Given the description of an element on the screen output the (x, y) to click on. 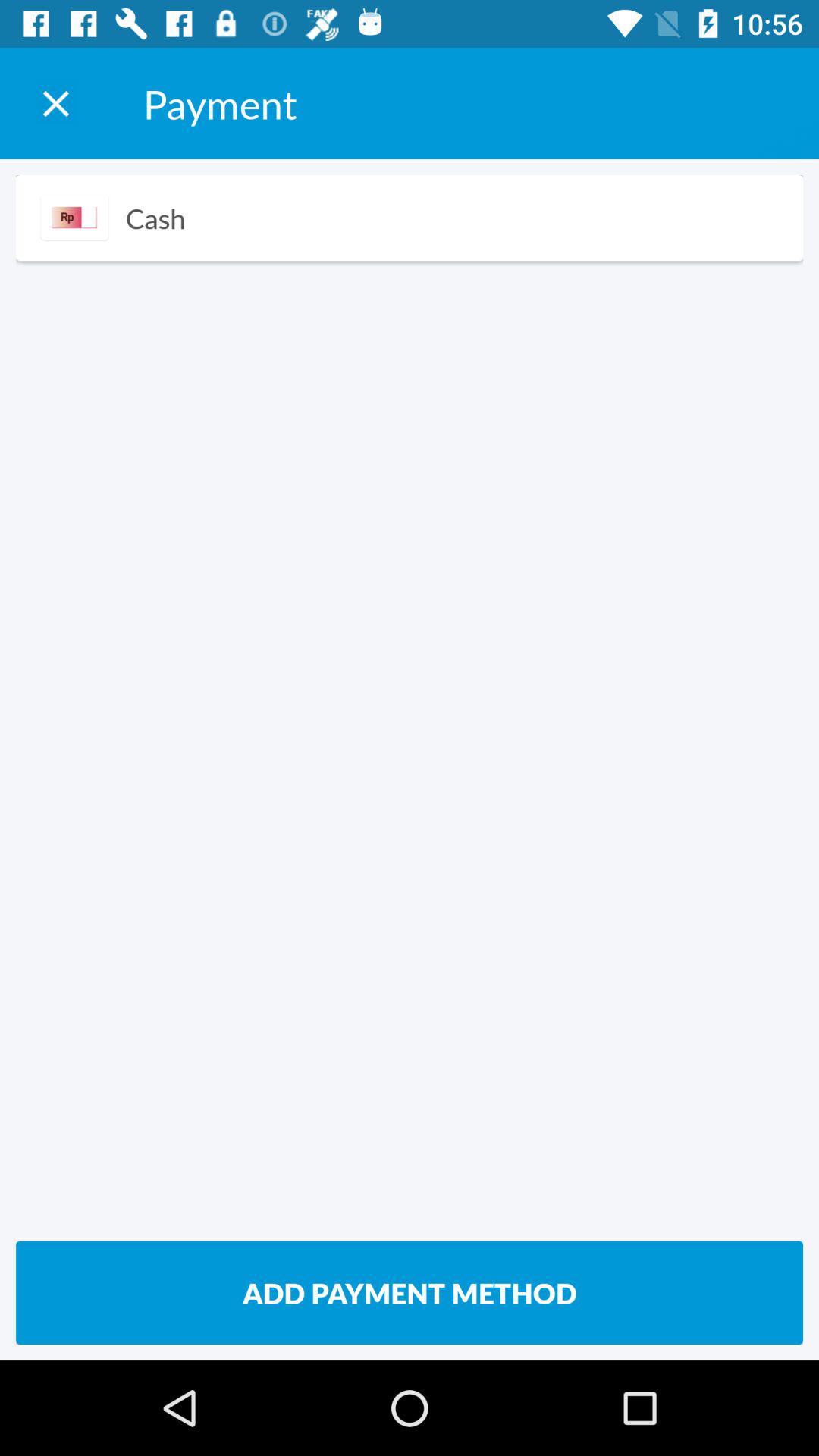
press the item to the left of the payment icon (55, 103)
